Given the description of an element on the screen output the (x, y) to click on. 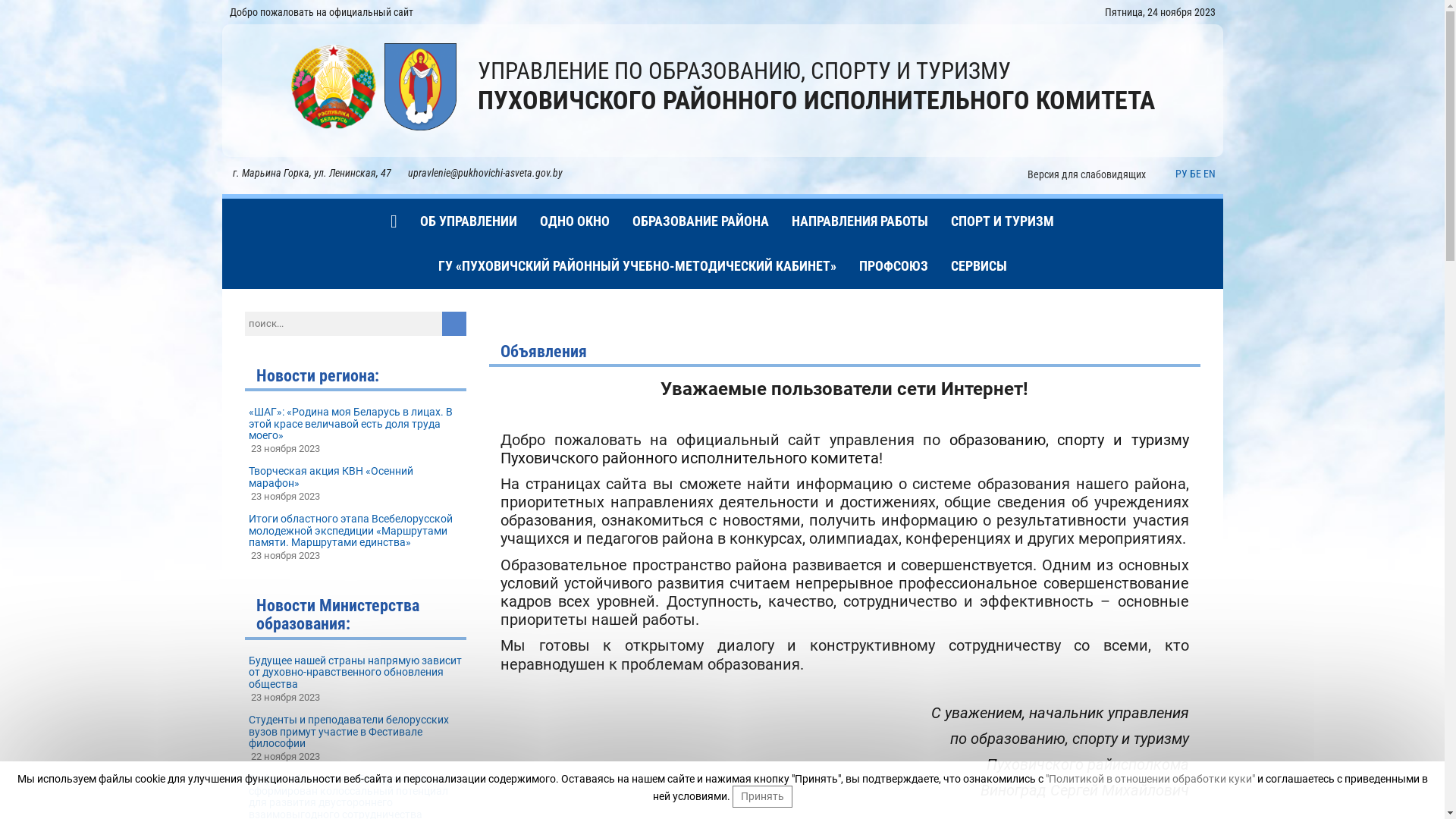
EN Element type: text (1208, 173)
